Given the description of an element on the screen output the (x, y) to click on. 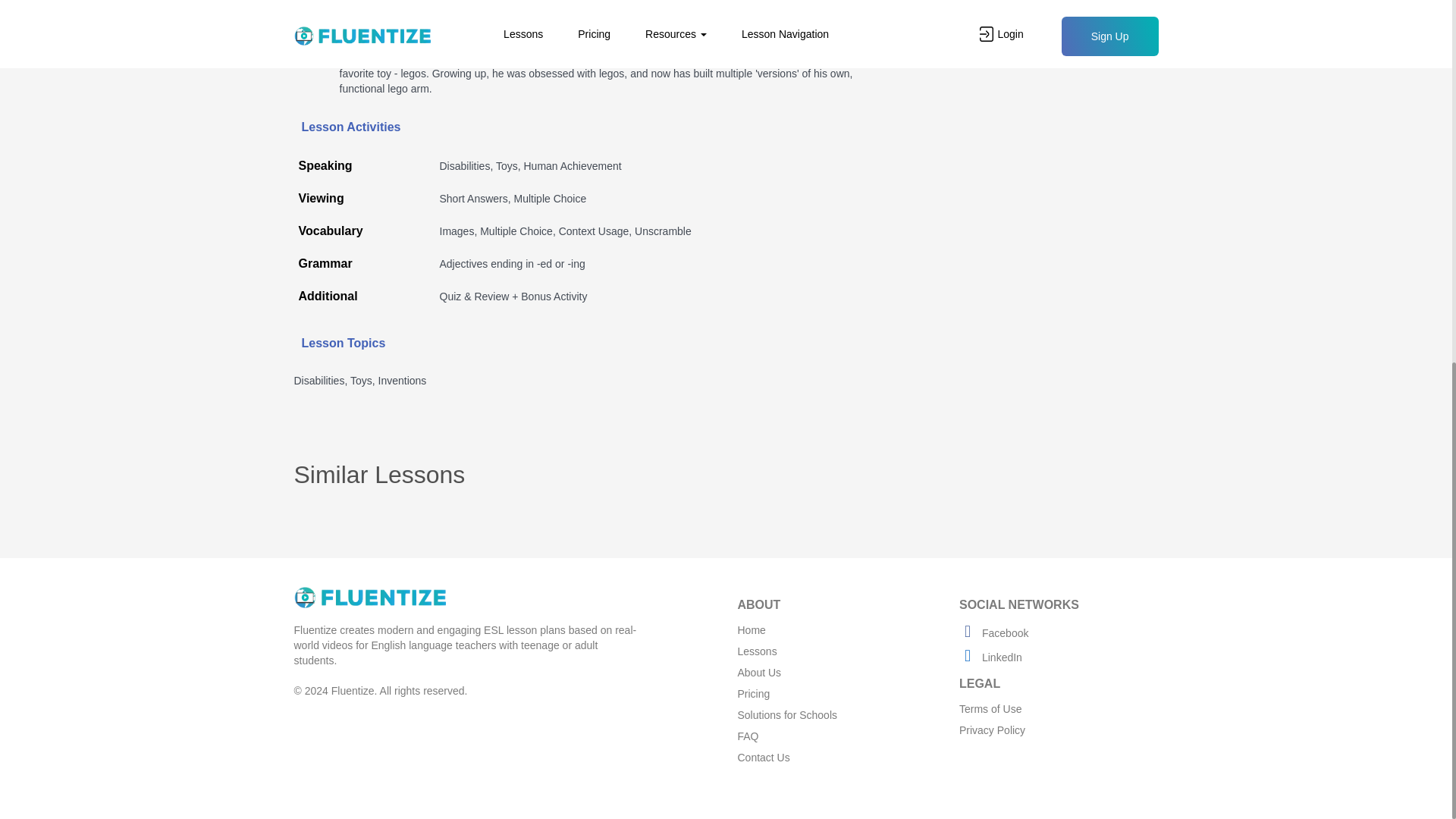
LinkedIn (990, 657)
About Us (758, 672)
Pricing (753, 693)
Contact Us (762, 757)
FAQ (747, 736)
Follow on Facebook (993, 633)
Follow on Linkedin (990, 657)
Facebook (993, 633)
Home (750, 630)
Terms of Use (990, 708)
